Given the description of an element on the screen output the (x, y) to click on. 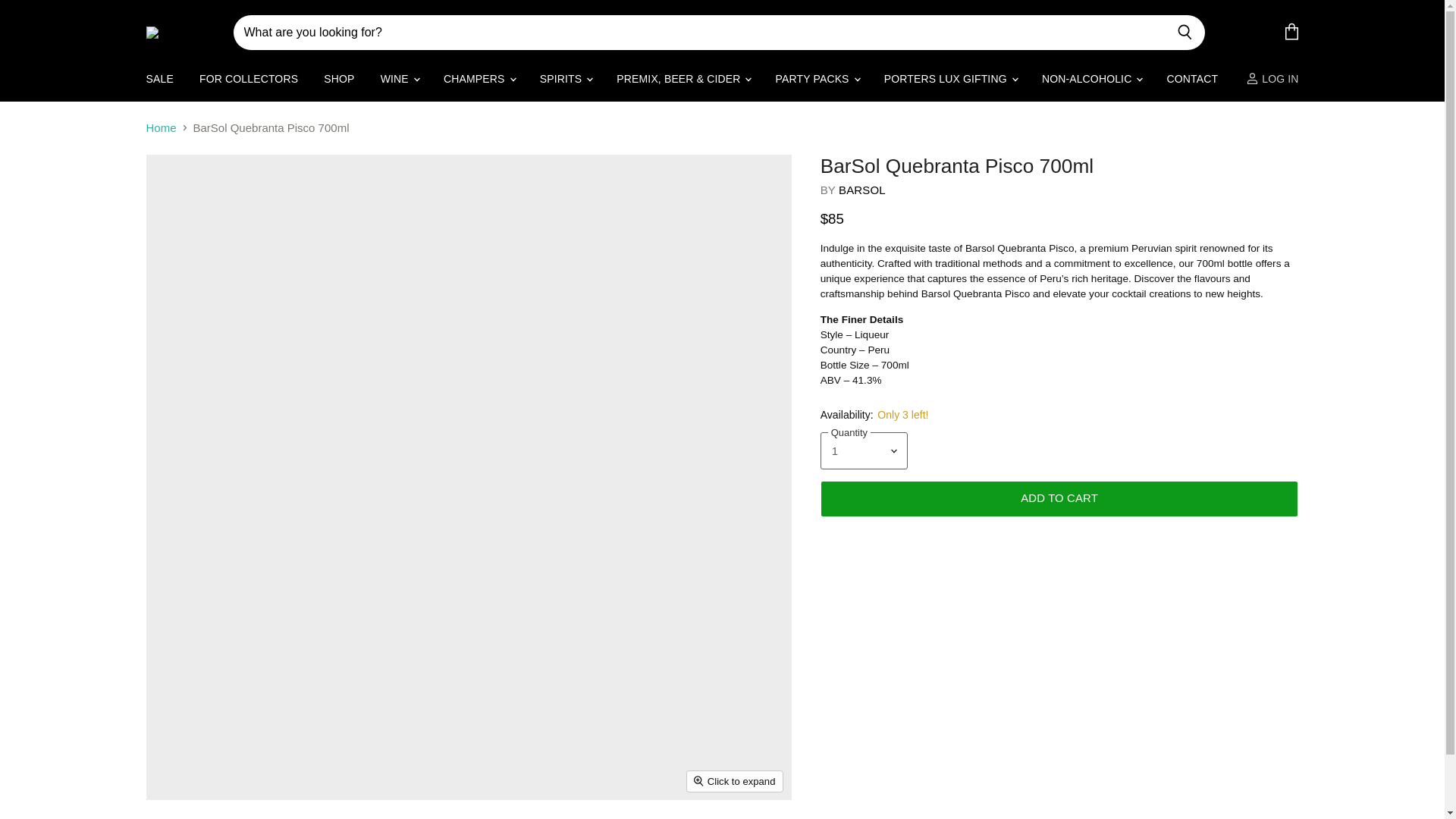
BarSol (861, 189)
SALE (159, 79)
FOR COLLECTORS (247, 79)
WINE (399, 79)
SHOP (339, 79)
ACCOUNT ICON (1252, 78)
